Given the description of an element on the screen output the (x, y) to click on. 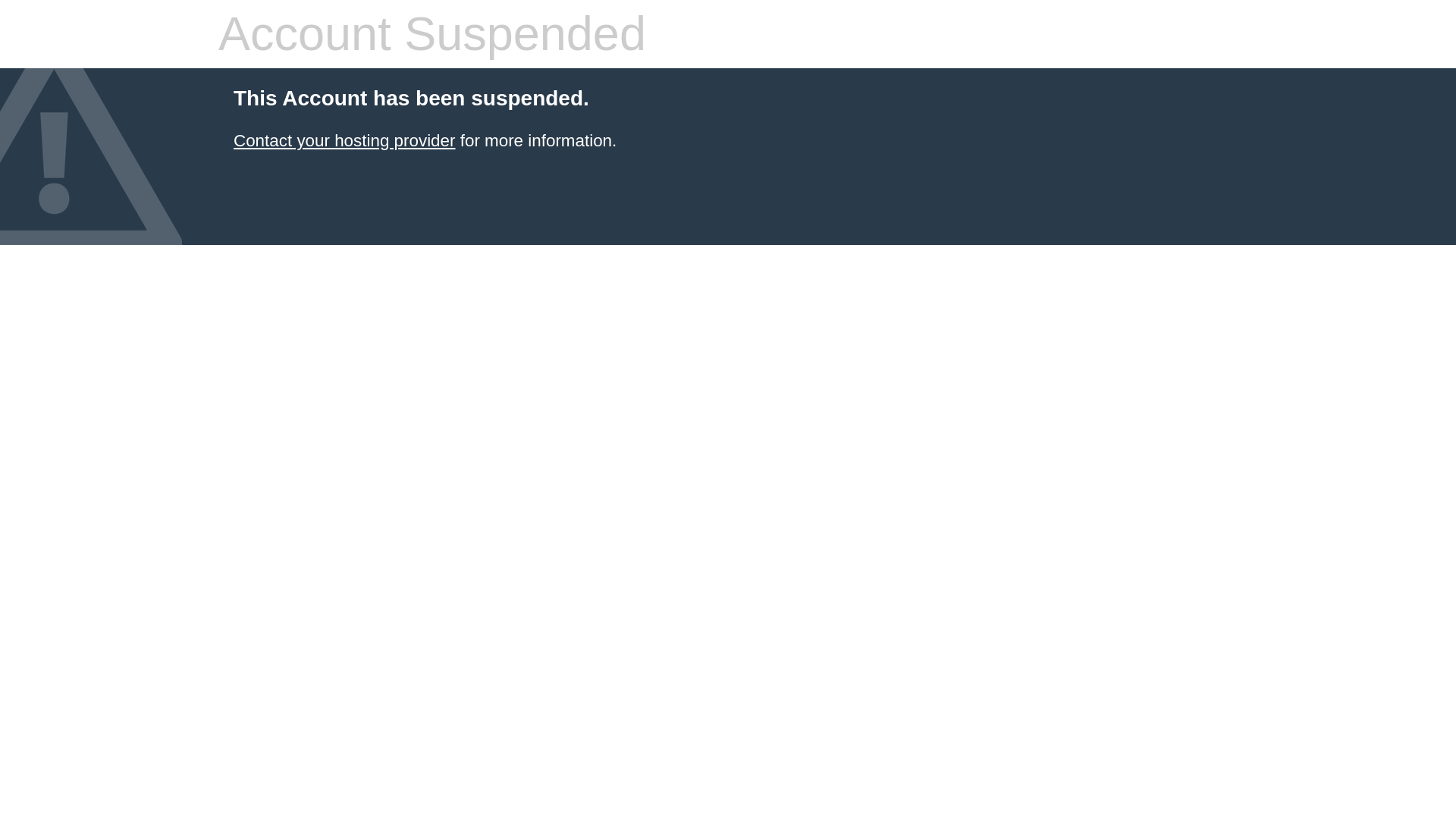
Contact your hosting provider (343, 140)
